Given the description of an element on the screen output the (x, y) to click on. 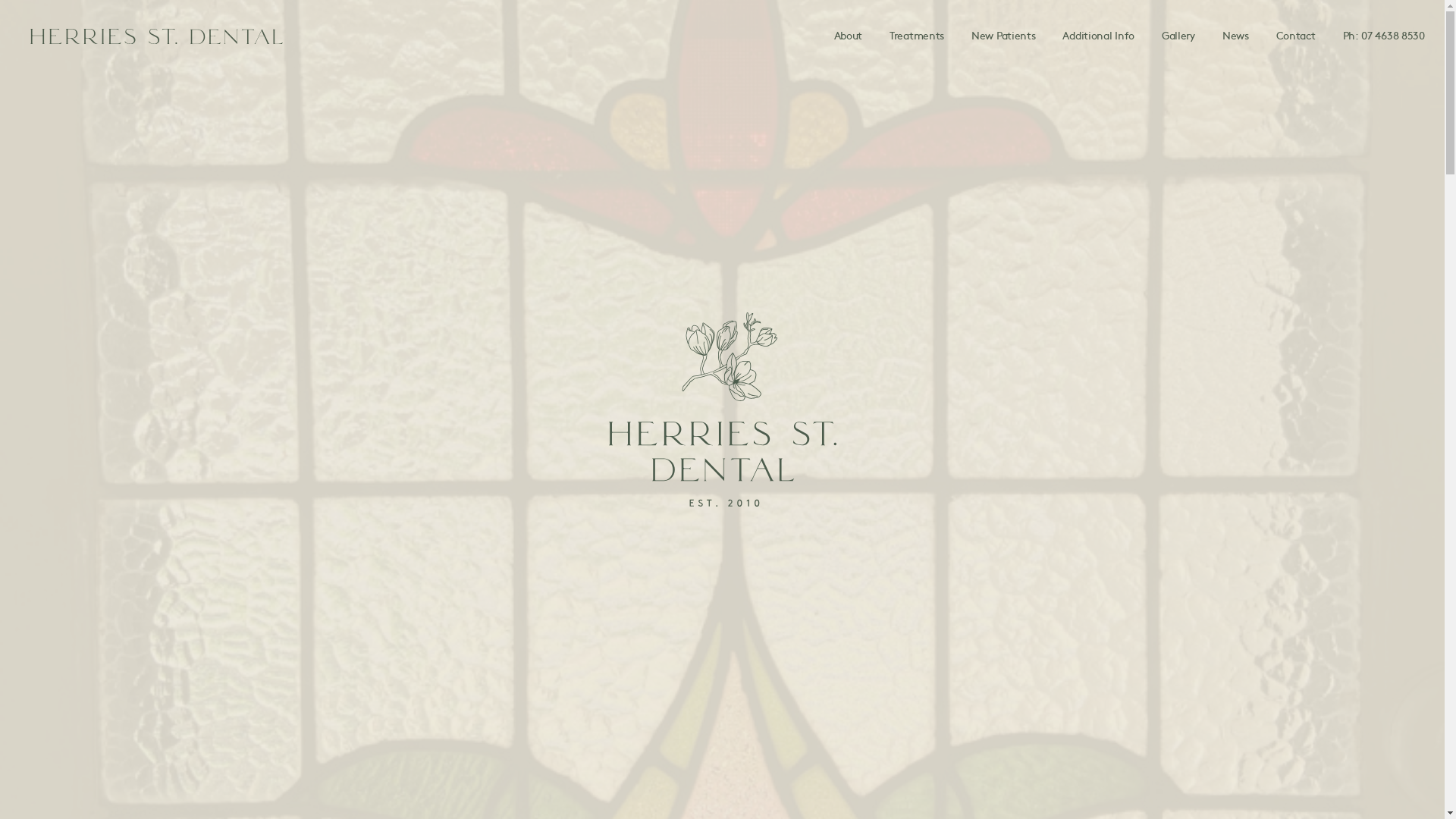
Ph: 07 4638 8530 Element type: text (1383, 34)
New Patients Element type: text (1003, 34)
About Element type: text (848, 34)
Additional Info Element type: text (1098, 34)
Gallery Element type: text (1178, 34)
Treatments Element type: text (916, 34)
Contact Element type: text (1295, 34)
News Element type: text (1235, 34)
